Given the description of an element on the screen output the (x, y) to click on. 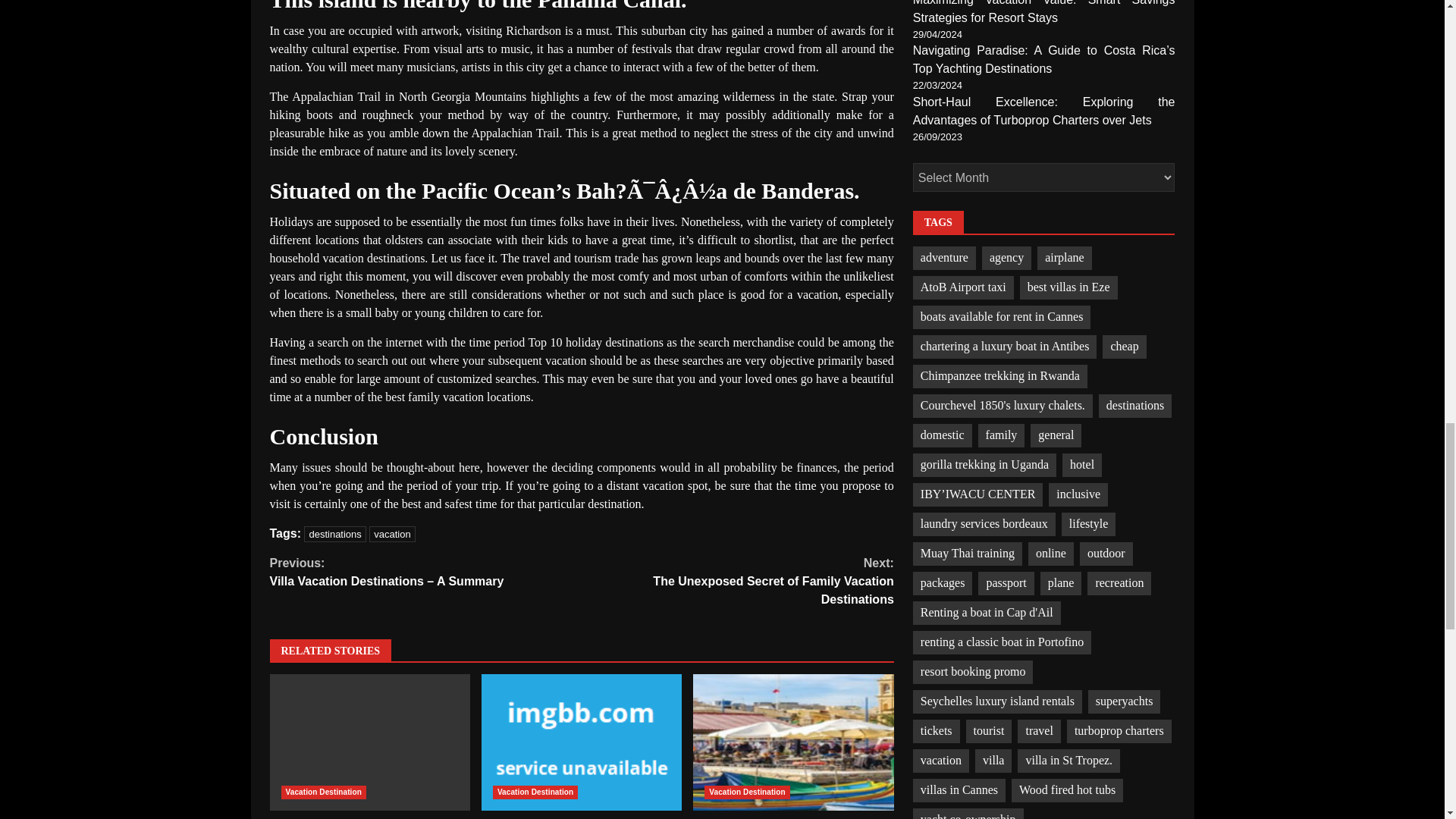
The Ugly Side of Vacation Destination Award (793, 742)
Vacation Destination (746, 792)
Vacation Destination (736, 580)
An Unbiased View of Vacation Destination Award (535, 792)
The Ugly Side of Vacation Destination Award (581, 742)
Traveling to Muay Thai training at Phuket in Thailand (793, 742)
destinations (369, 742)
Traveling to Muay Thai training at Phuket in Thailand (334, 534)
An Unbiased View of Vacation Destination Award (369, 742)
vacation (581, 742)
Vacation Destination (391, 534)
